Given the description of an element on the screen output the (x, y) to click on. 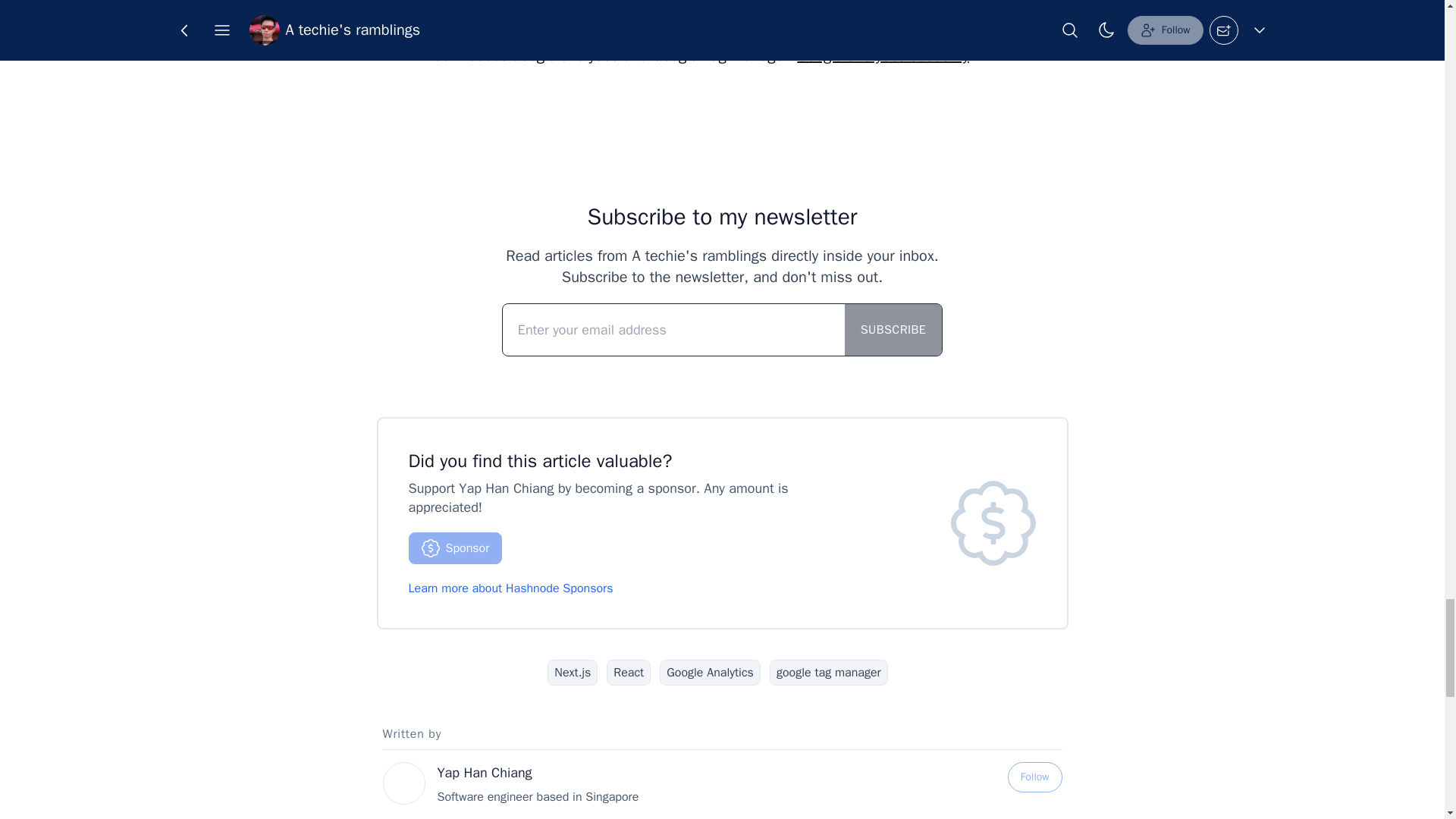
Google analytics academy (882, 55)
